Given the description of an element on the screen output the (x, y) to click on. 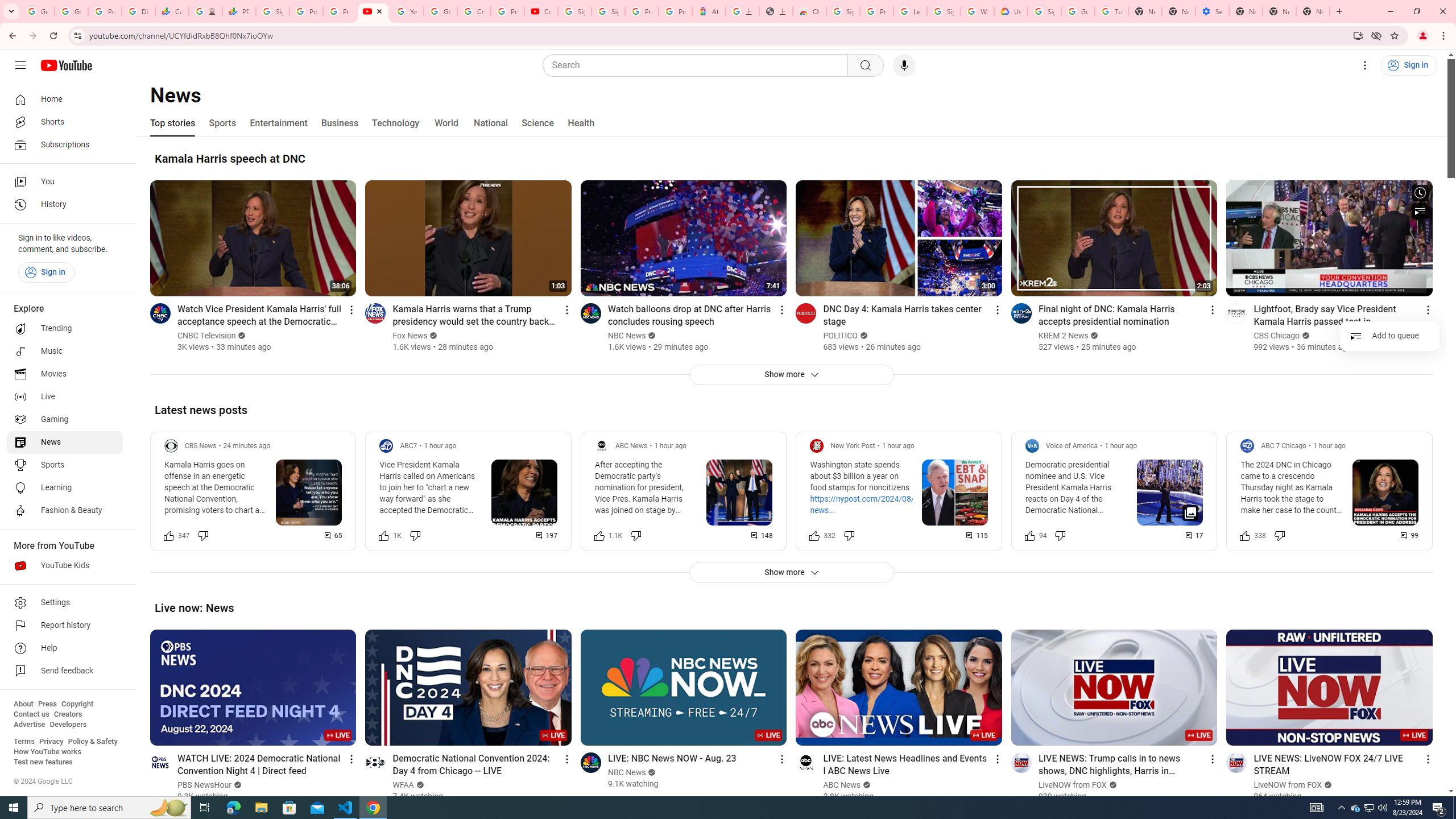
WFAA (403, 784)
Copyright (77, 703)
Atour Hotel - Google hotels (708, 11)
Entertainment (277, 122)
Google Workspace Admin Community (37, 11)
Guide (20, 65)
Trending (64, 328)
